Given the description of an element on the screen output the (x, y) to click on. 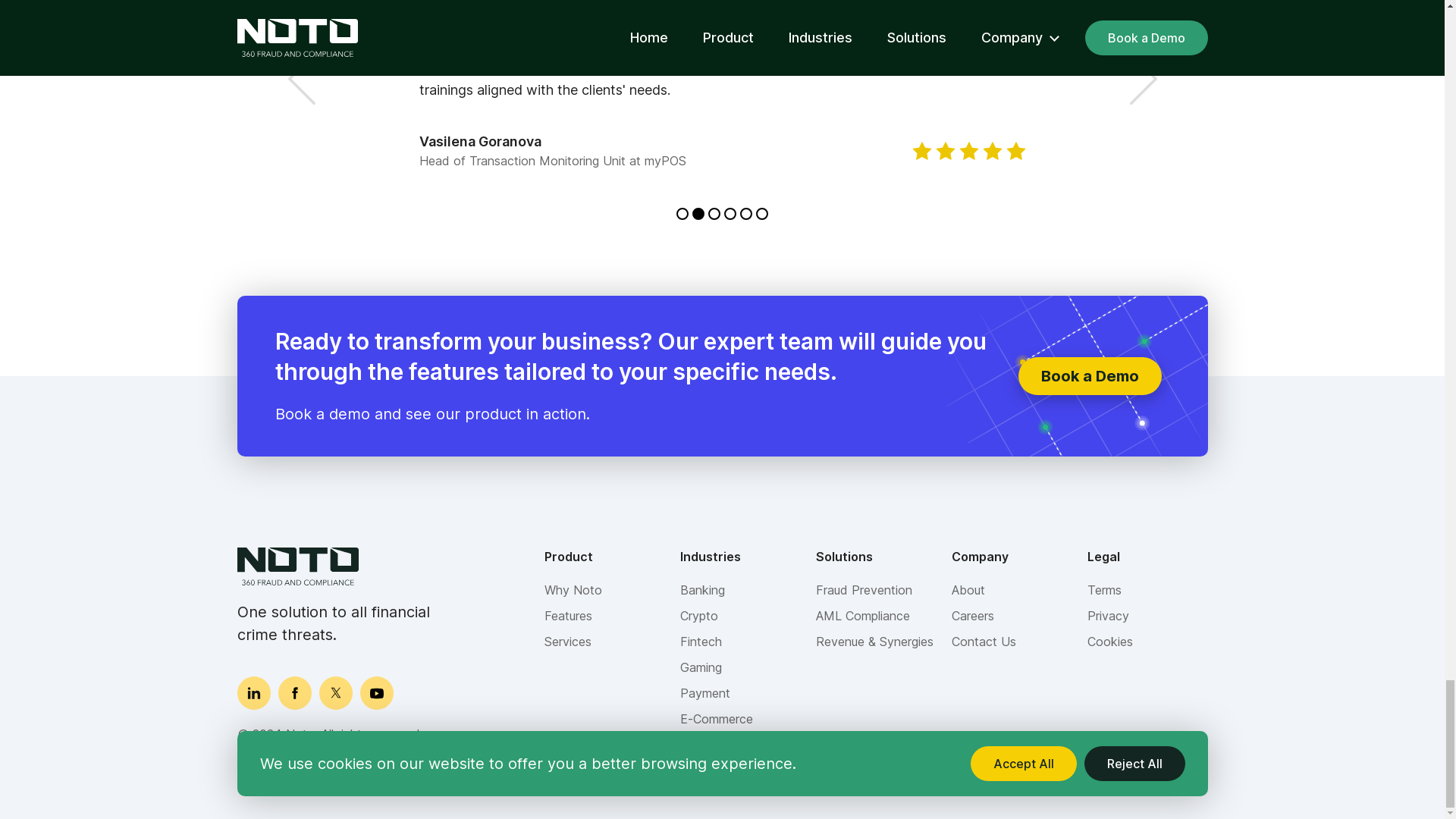
Crypto (698, 615)
Book a Demo (1088, 375)
Banking (701, 589)
Services (567, 641)
Features (568, 615)
Why Noto (573, 589)
Fintech (699, 641)
